Given the description of an element on the screen output the (x, y) to click on. 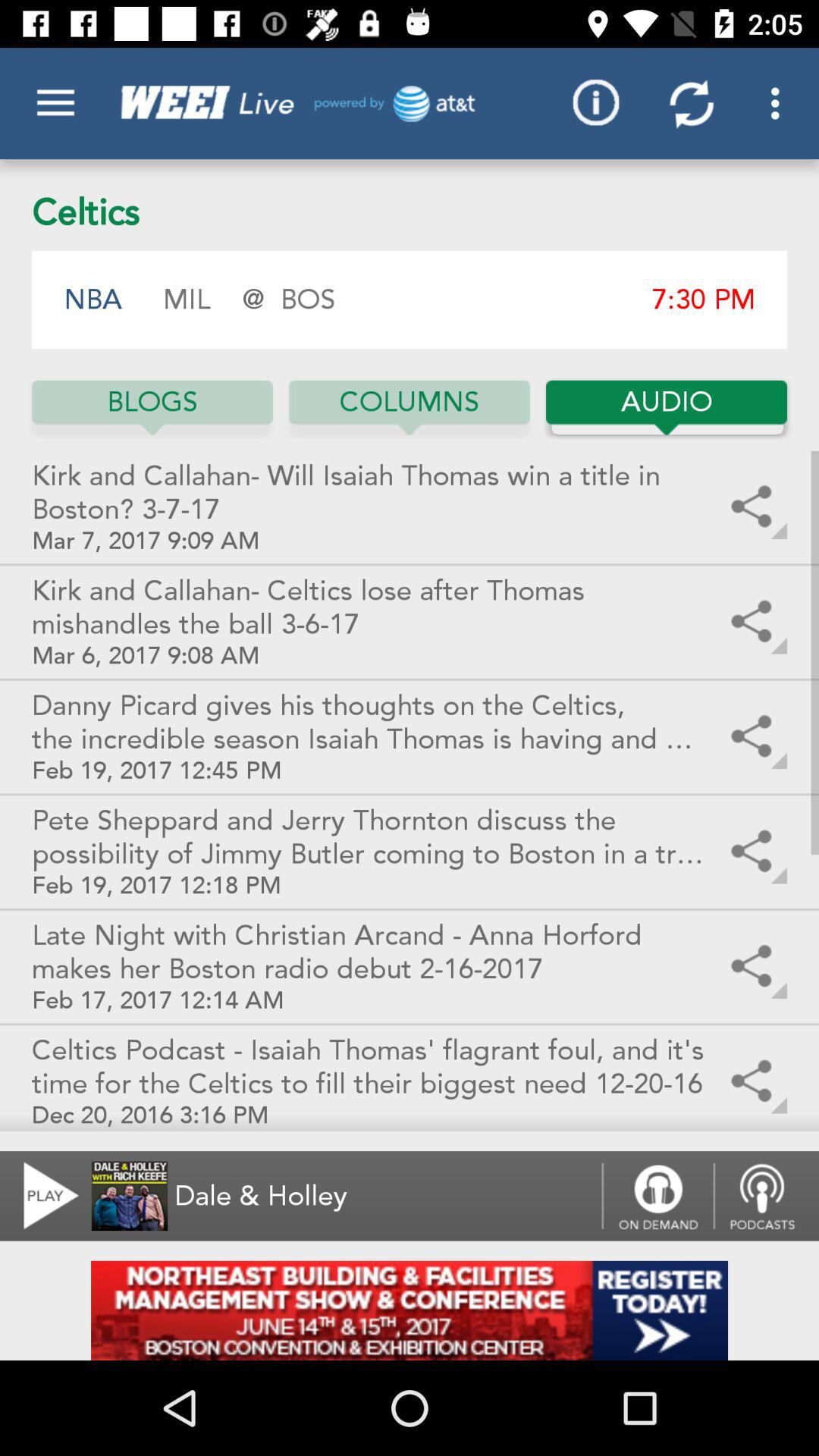
visit advertisement (409, 1310)
